Given the description of an element on the screen output the (x, y) to click on. 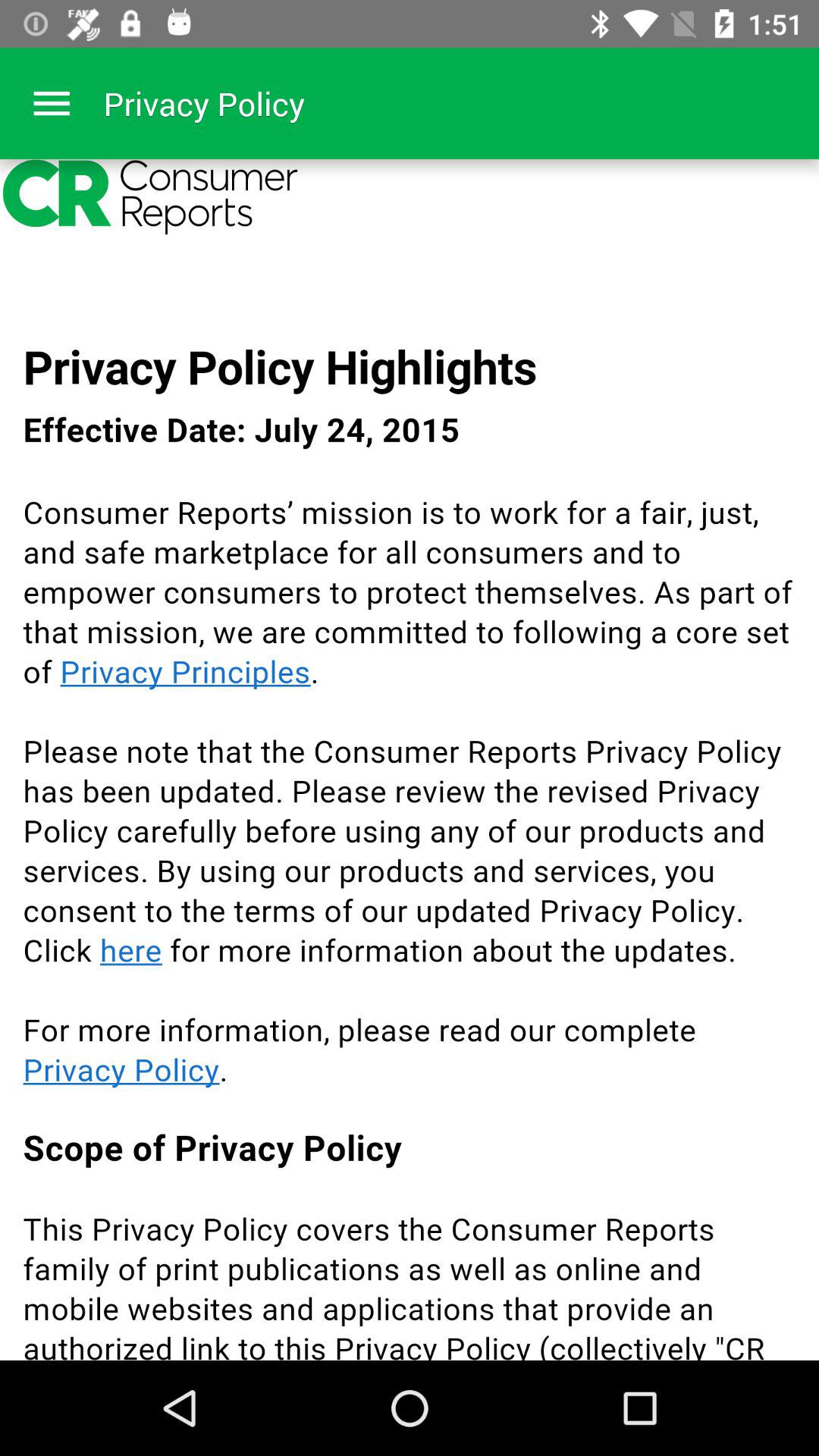
content of the privacy policy (409, 759)
